Given the description of an element on the screen output the (x, y) to click on. 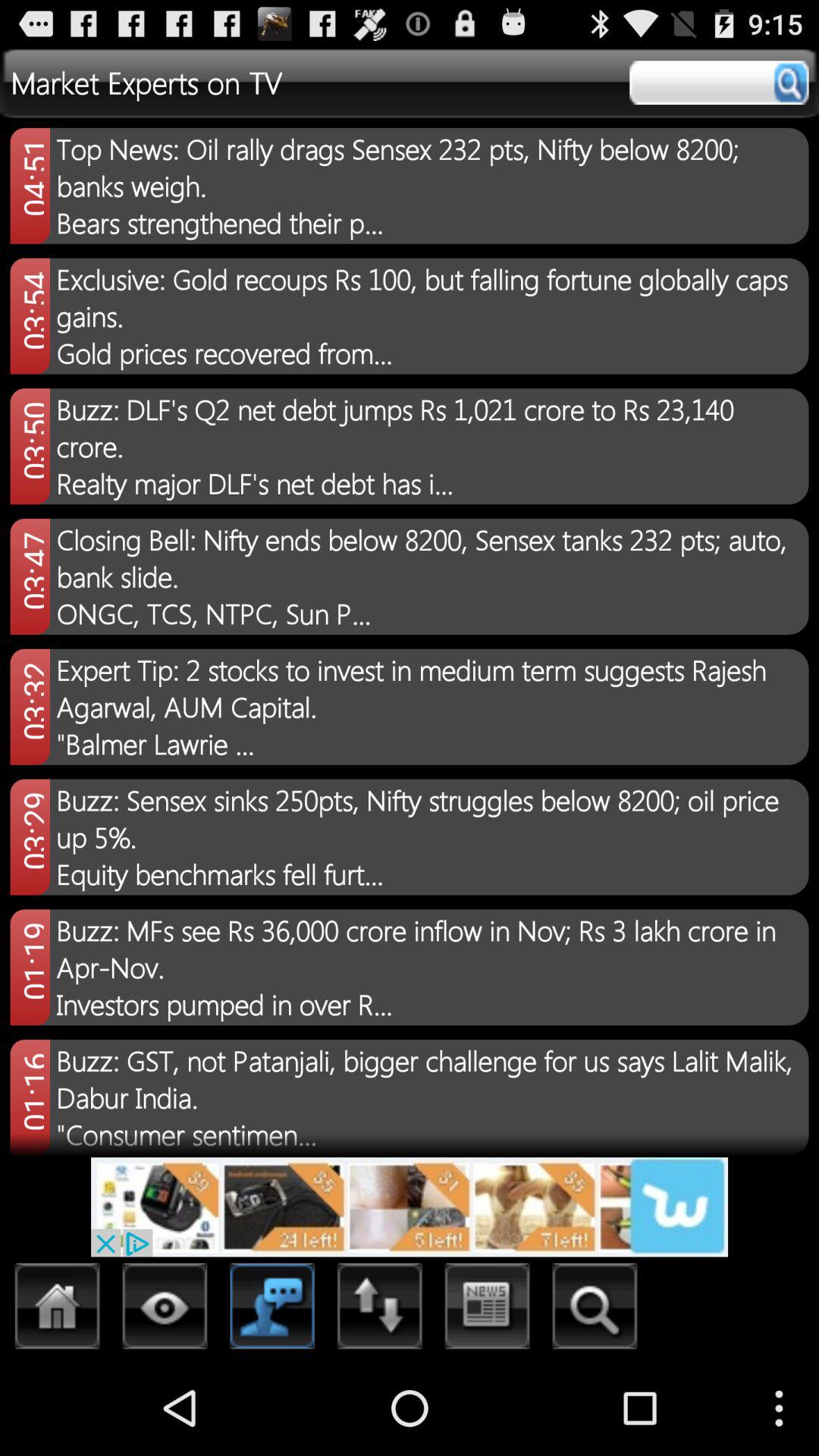
reverse it (379, 1310)
